Given the description of an element on the screen output the (x, y) to click on. 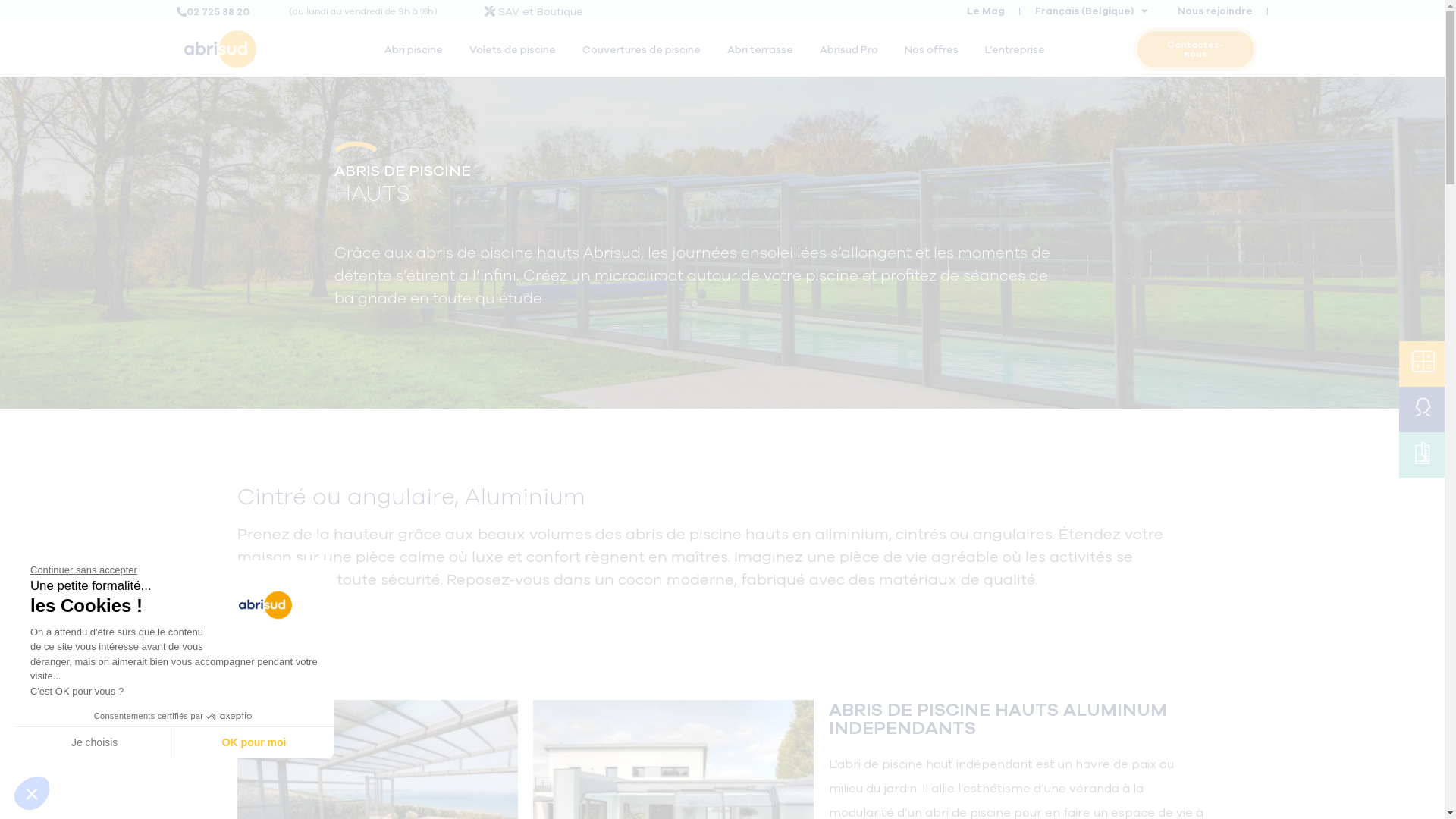
Volets de piscine Element type: text (516, 49)
Abrisud (1) Element type: hover (219, 49)
Couvertures de piscine Element type: text (645, 49)
arc abrisud Element type: hover (354, 146)
Abrisud Pro Element type: text (852, 49)
OK pour moi Element type: text (253, 742)
SAV et Boutique Element type: text (540, 11)
Contactez-nous Element type: text (1195, 49)
Nos offres Element type: text (935, 49)
Abri piscine Element type: text (417, 49)
Je choisis Element type: text (94, 742)
Abri terrasse Element type: text (763, 49)
Fermer le widget sans consentement Element type: hover (31, 793)
